Given the description of an element on the screen output the (x, y) to click on. 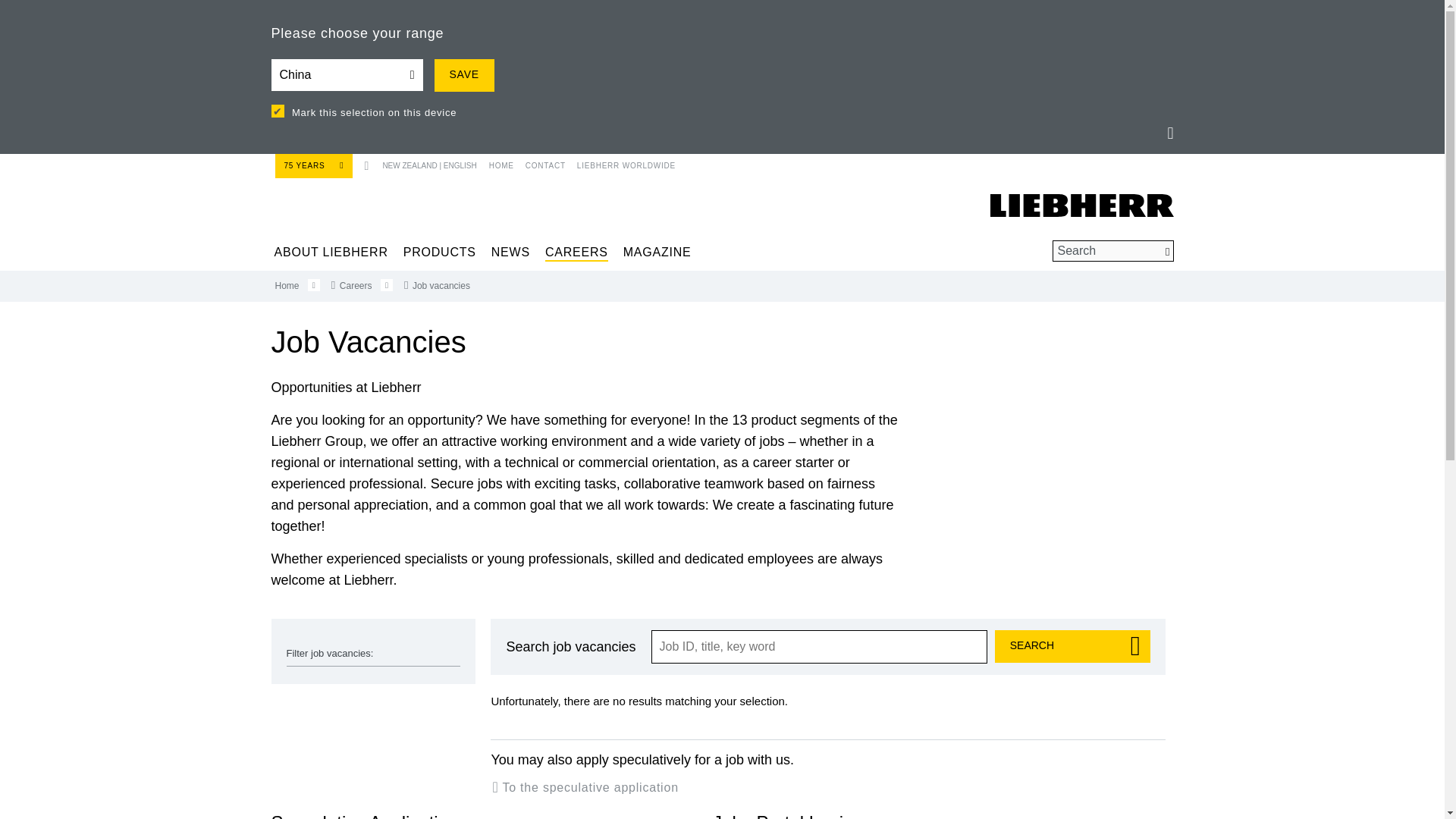
China (346, 74)
LIEBHERR WORLDWIDE (620, 162)
75 YEARS (313, 165)
About Liebherr (331, 251)
HOME (498, 162)
SAVE (463, 74)
CONTACT (539, 162)
ABOUT LIEBHERR (331, 251)
on (276, 110)
